Given the description of an element on the screen output the (x, y) to click on. 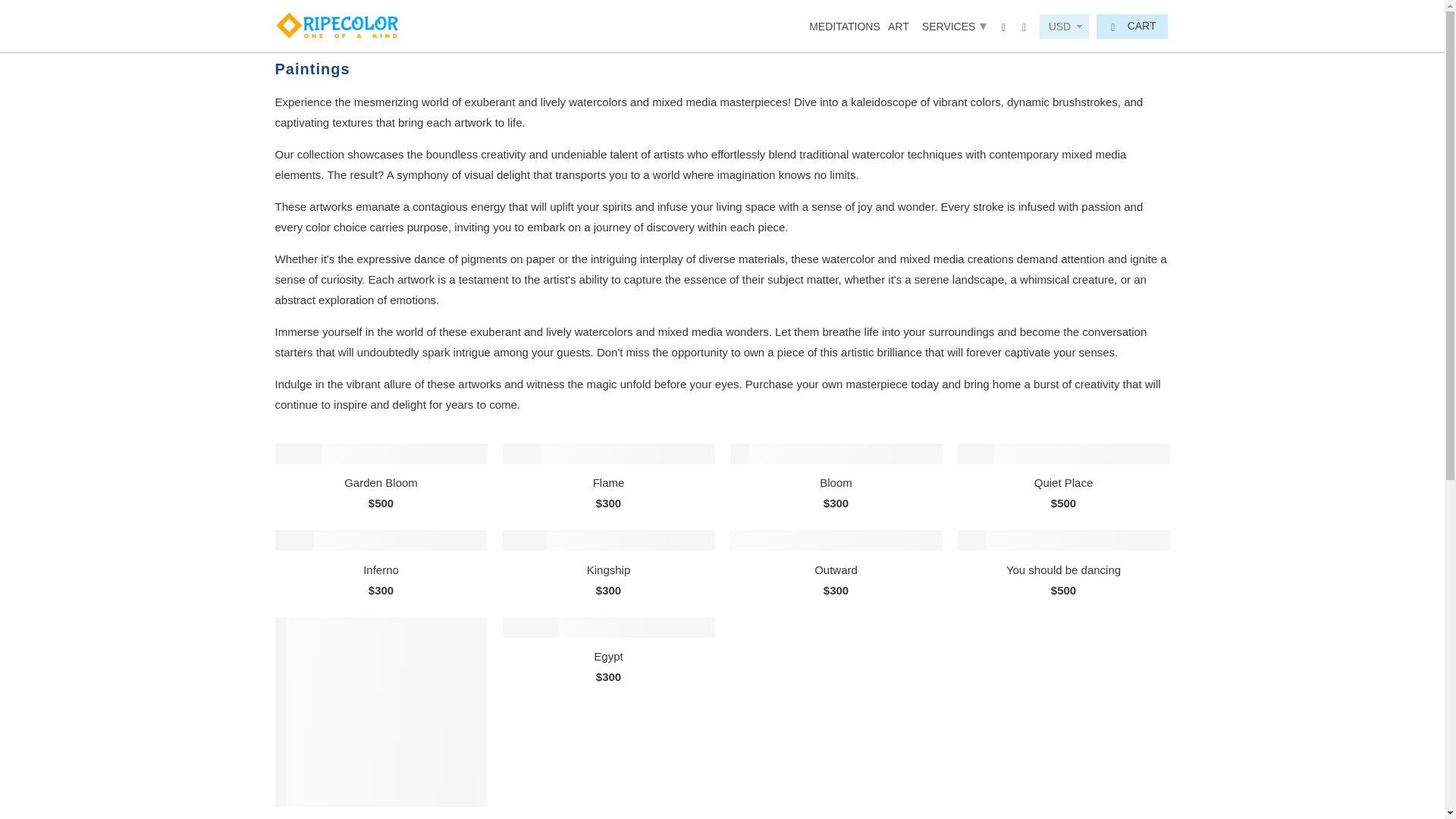
Home (288, 24)
Ripecolor (288, 24)
Ripecolor (336, 25)
Paintings (345, 24)
ART (898, 29)
Paintings (345, 24)
MEDITATIONS (844, 29)
CART (1131, 26)
